Given the description of an element on the screen output the (x, y) to click on. 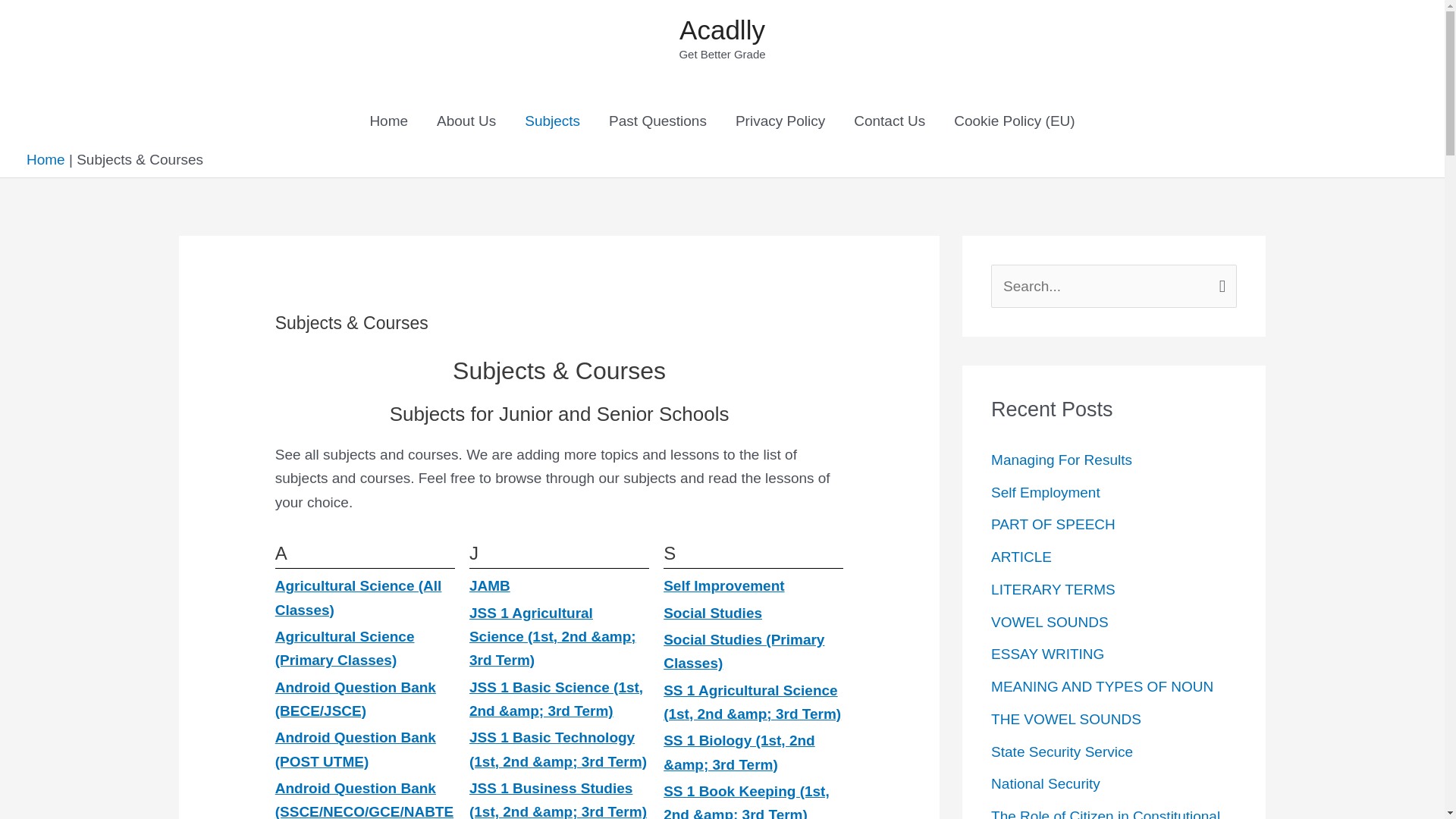
Contact Us (889, 120)
Past Questions (657, 120)
Home (45, 159)
Privacy Policy (780, 120)
Home (388, 120)
About Us (466, 120)
Acadlly (722, 30)
Subjects (552, 120)
